Given the description of an element on the screen output the (x, y) to click on. 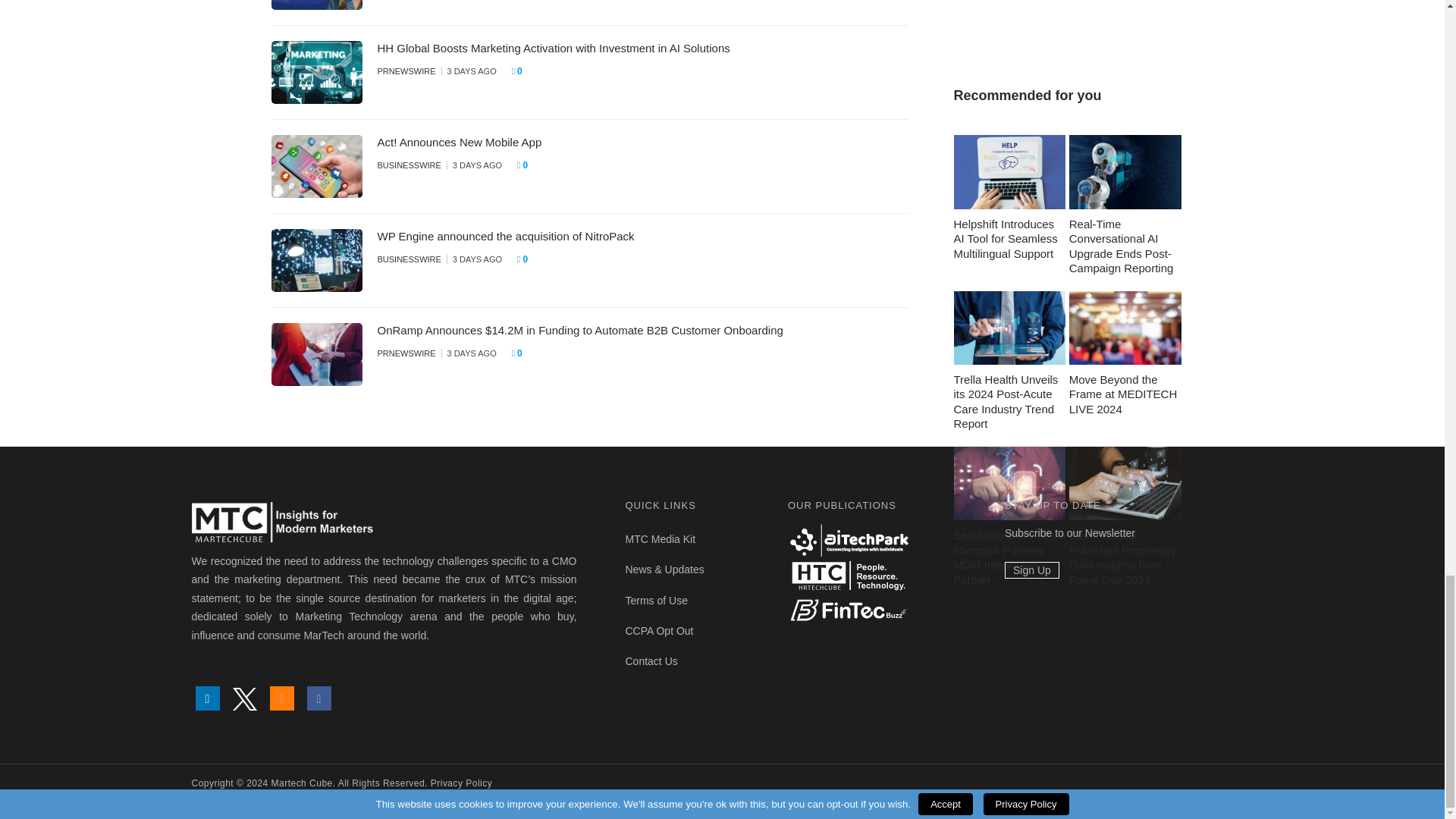
Comments (526, 165)
Comments (521, 71)
View WP Engine announced the acquisition of NitroPack (505, 236)
View all posts by PRNewswire (406, 71)
Comments (526, 259)
View all posts by BusinessWire (409, 258)
View Act! Announces New Mobile App (459, 141)
View all posts by BusinessWire (409, 164)
